Given the description of an element on the screen output the (x, y) to click on. 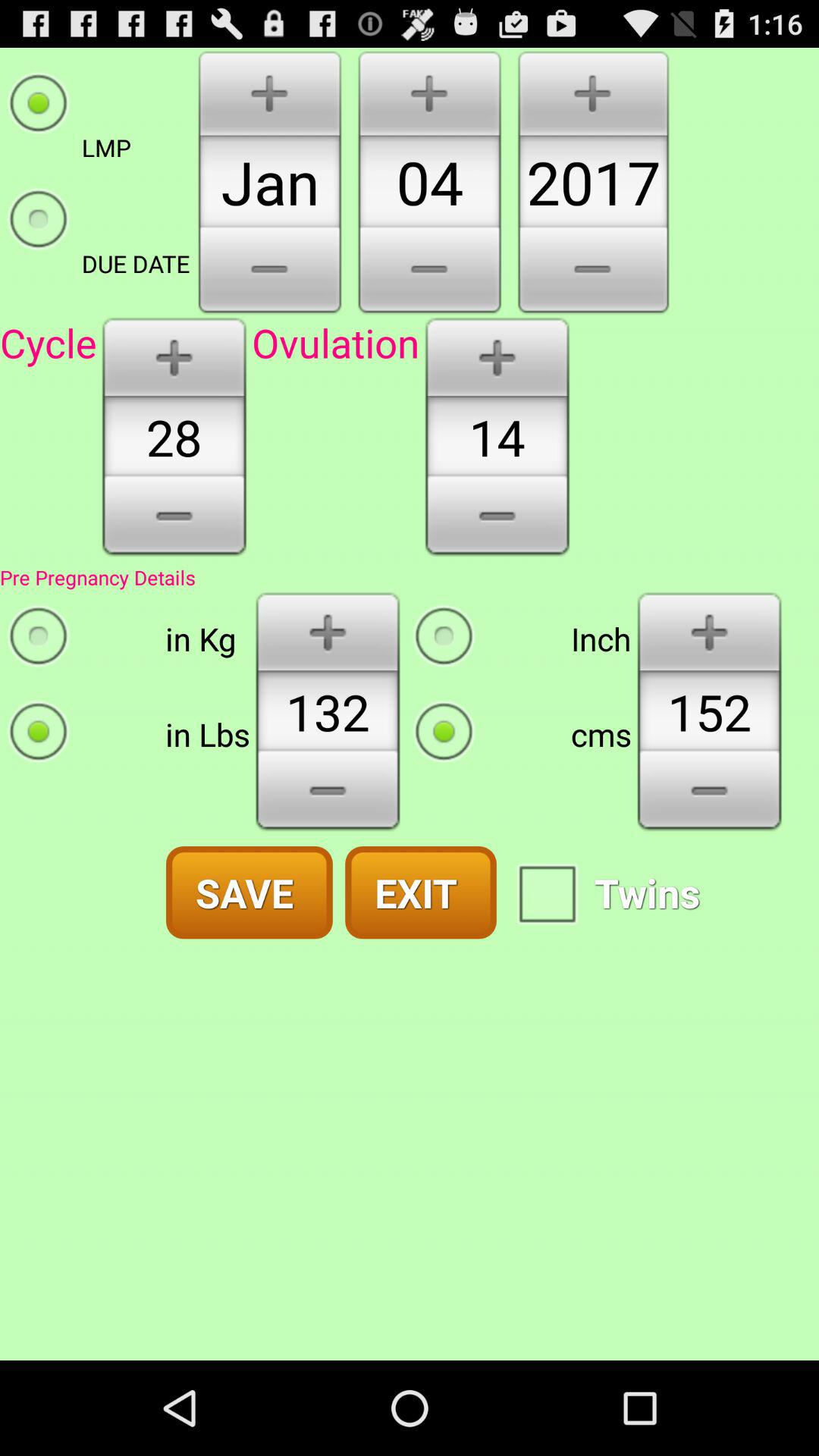
subtract the number (173, 521)
